Given the description of an element on the screen output the (x, y) to click on. 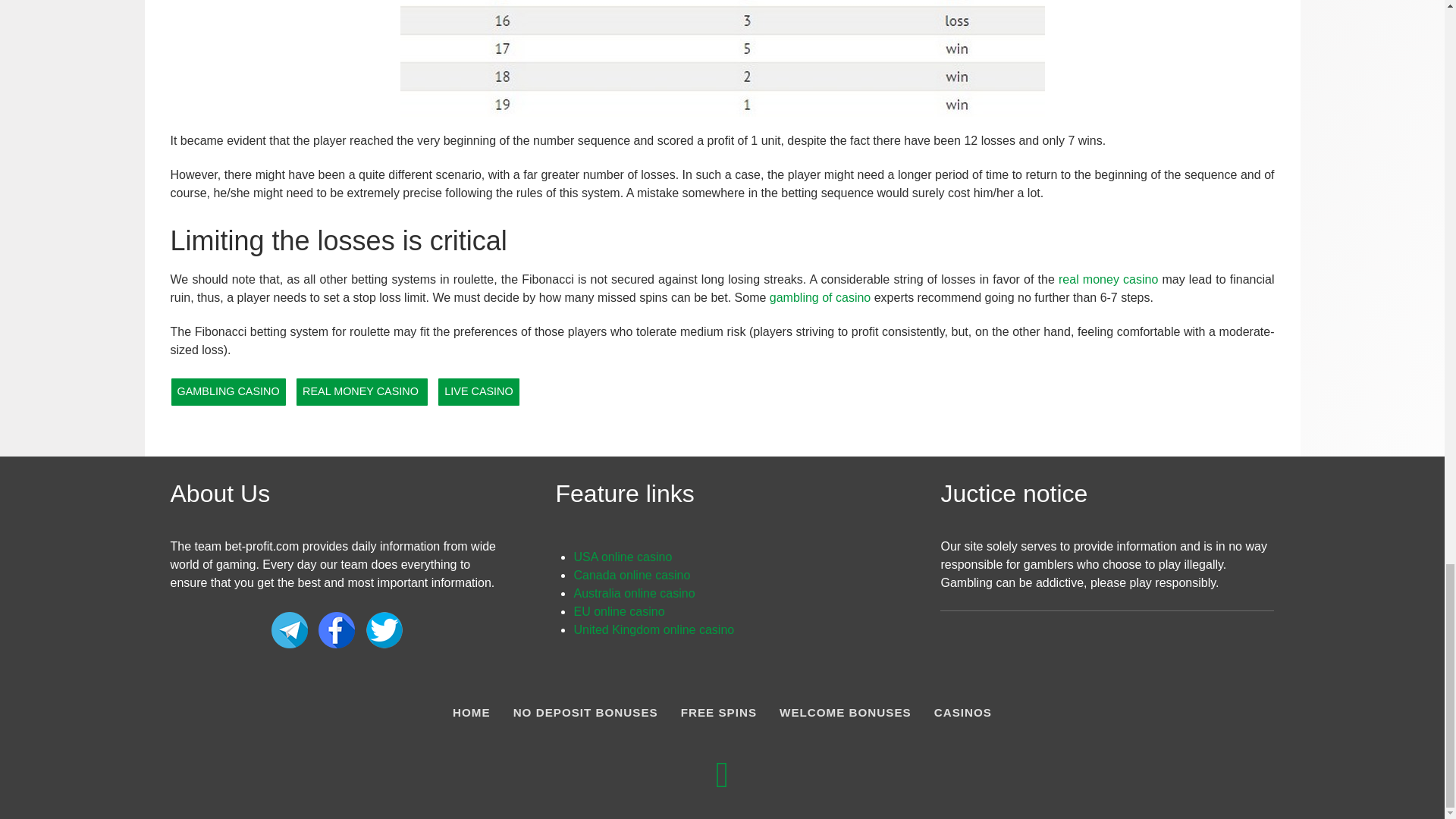
GAMBLING CASINO (227, 391)
LIVE CASINO (478, 391)
REAL MONEY CASINO  (361, 391)
gambling of casino (820, 297)
real money casino (1107, 278)
